Given the description of an element on the screen output the (x, y) to click on. 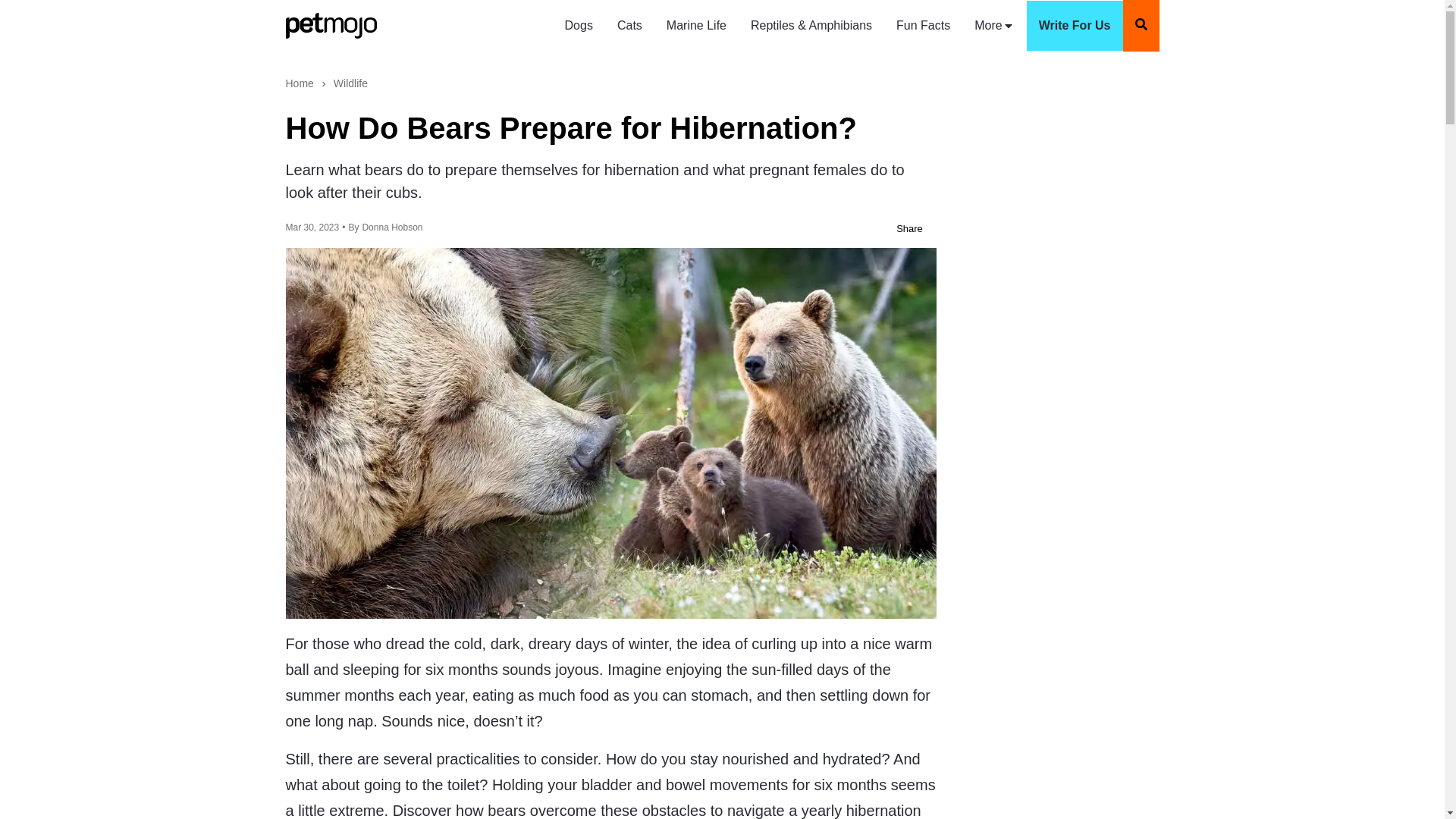
Donna Hobson (391, 226)
Fun Facts (922, 25)
Home (299, 83)
Cats (629, 25)
Wildlife (350, 83)
Dogs (579, 25)
Write For Us (1074, 25)
Marine Life (695, 25)
